Given the description of an element on the screen output the (x, y) to click on. 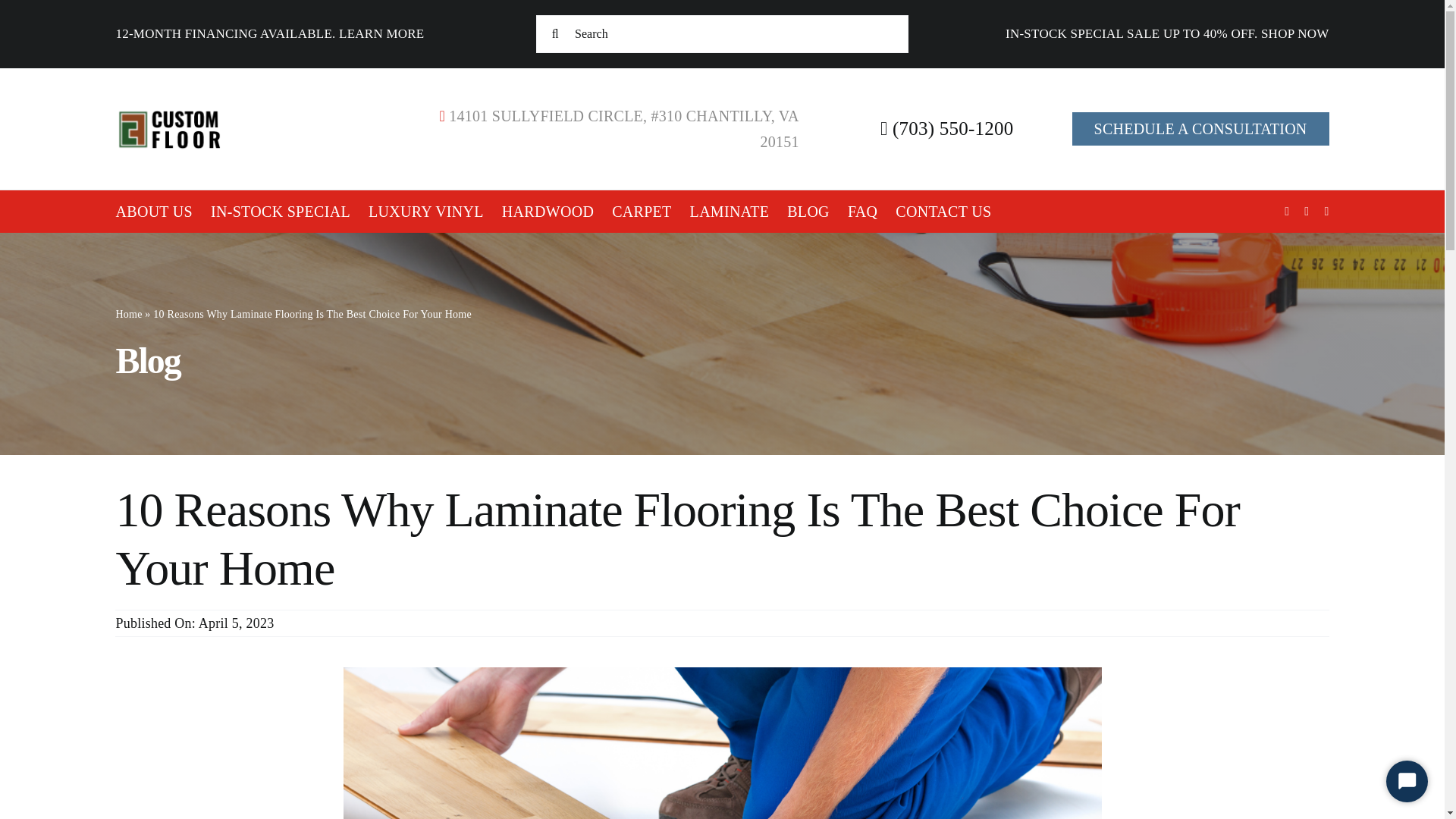
IN-STOCK SPECIAL (280, 211)
SHOP NOW (1294, 33)
LAMINATE (730, 211)
CONTACT US (943, 211)
LUXURY VINYL (425, 211)
12-MONTH FINANCING AVAILABLE. LEARN MORE (269, 33)
ABOUT US (153, 211)
SCHEDULE A CONSULTATION (1200, 128)
CARPET (641, 211)
HARDWOOD (548, 211)
BLOG (808, 211)
Home (128, 314)
